Given the description of an element on the screen output the (x, y) to click on. 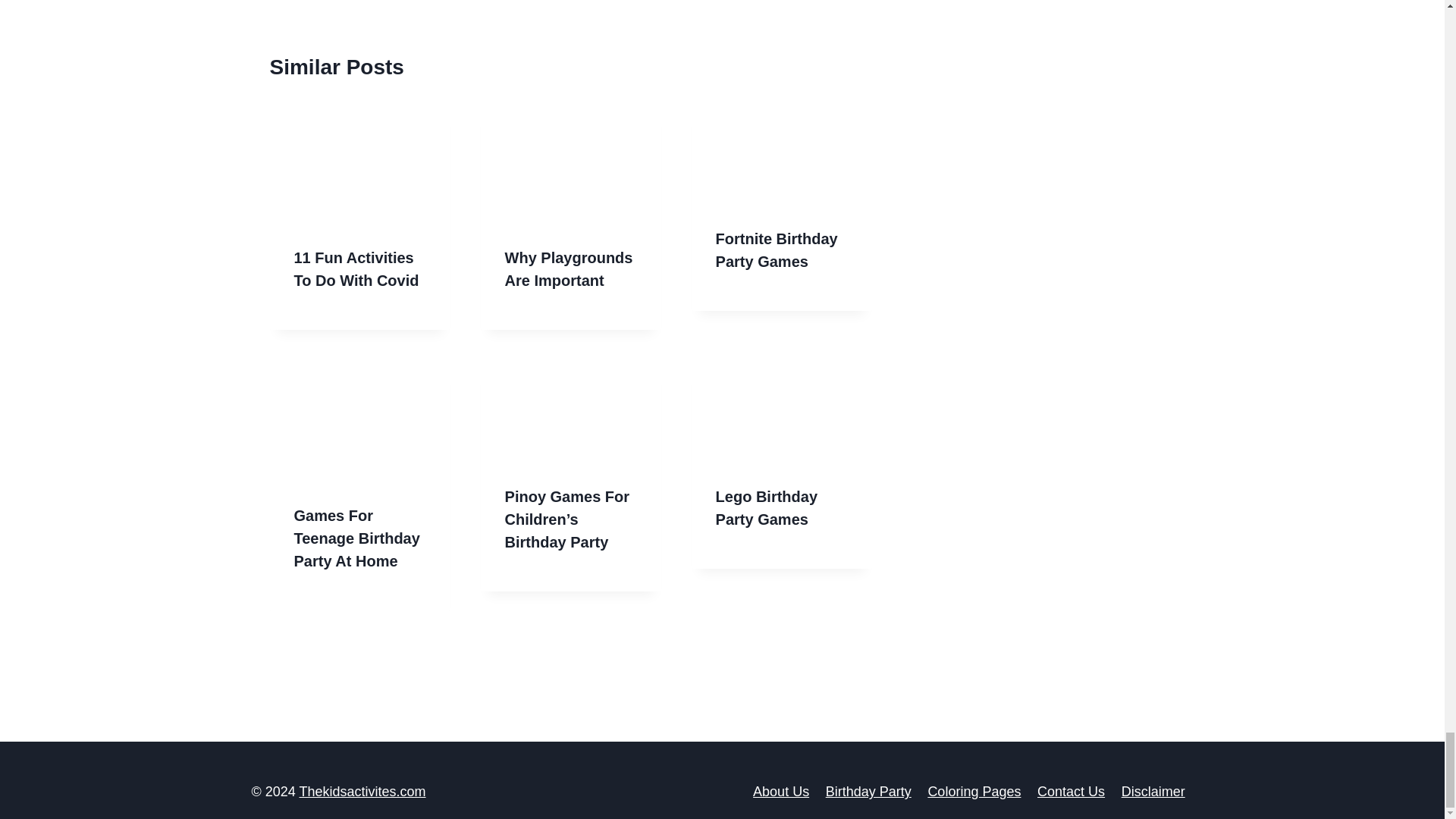
Why Playgrounds Are Important (569, 269)
Games For Teenage Birthday Party At Home (357, 537)
Fortnite Birthday Party Games (777, 250)
Lego Birthday Party Games (766, 507)
11 Fun Activities To Do With Covid (356, 269)
